Given the description of an element on the screen output the (x, y) to click on. 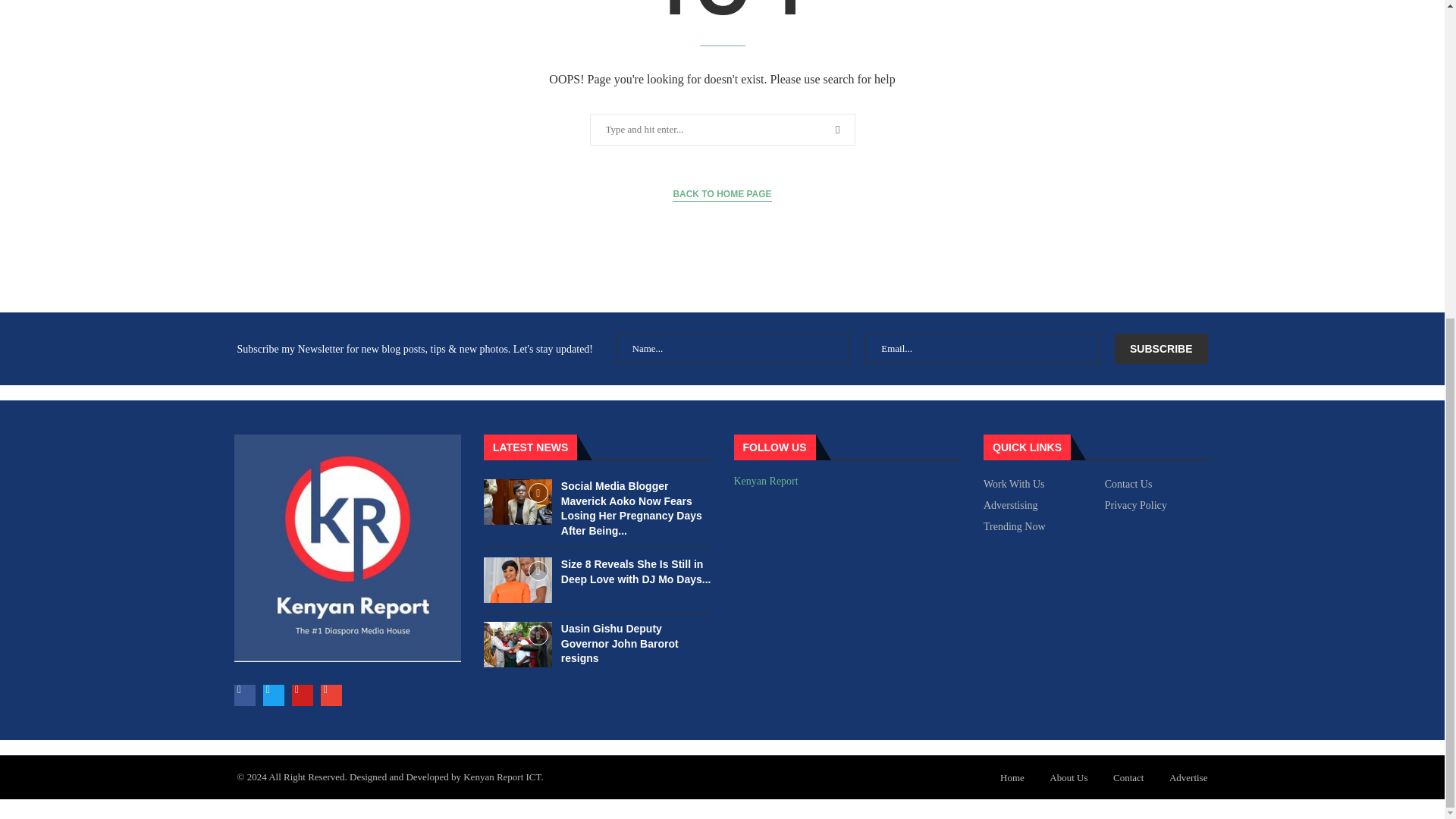
Uasin Gishu Deputy Governor John Barorot resigns (619, 643)
Uasin Gishu Deputy Governor John Barorot resigns (517, 644)
Subscribe (1161, 348)
